Given the description of an element on the screen output the (x, y) to click on. 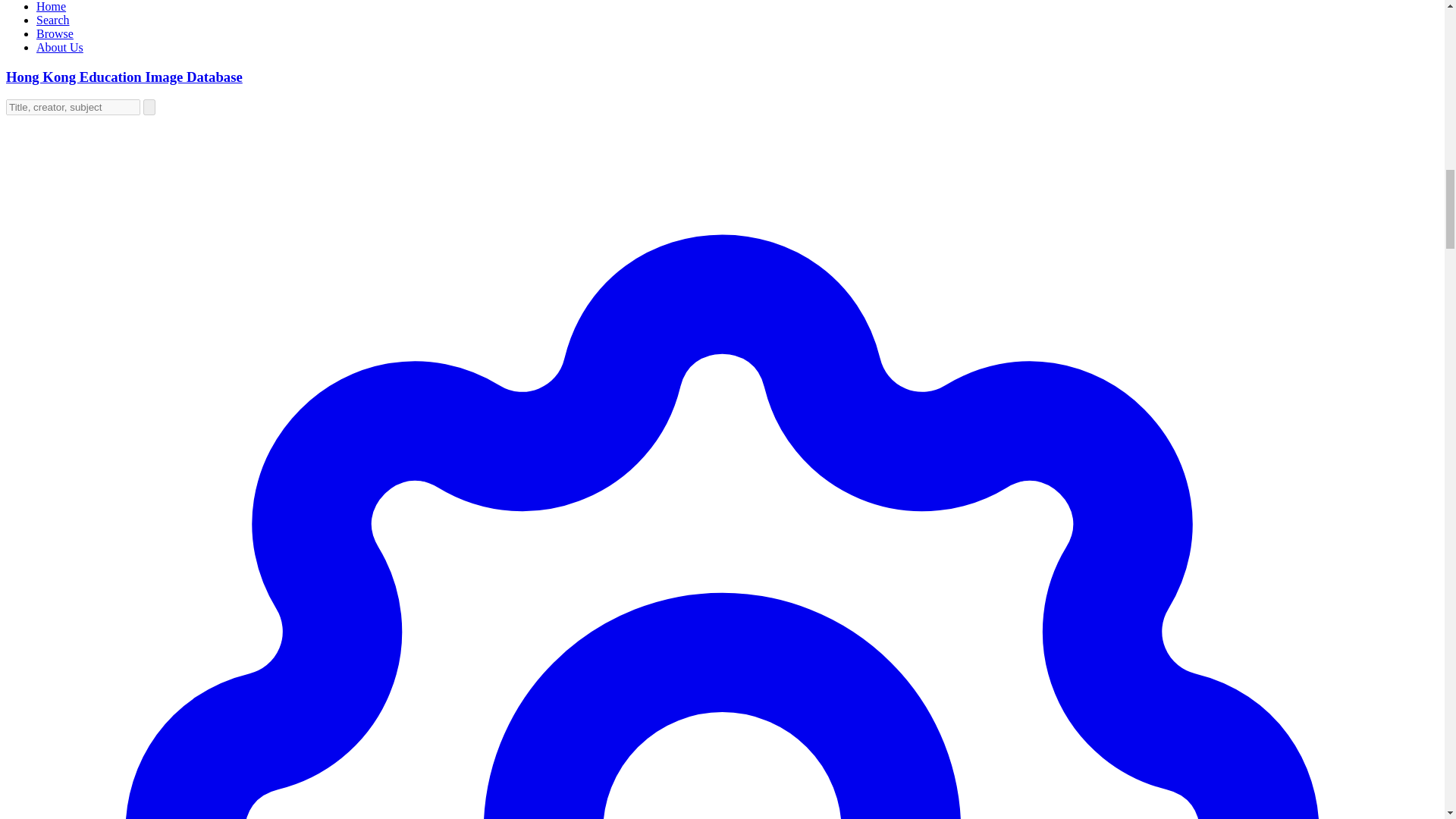
Search (52, 19)
Hong Kong Education Image Database (124, 76)
Browse (55, 33)
About Us (59, 47)
Home (50, 6)
